Given the description of an element on the screen output the (x, y) to click on. 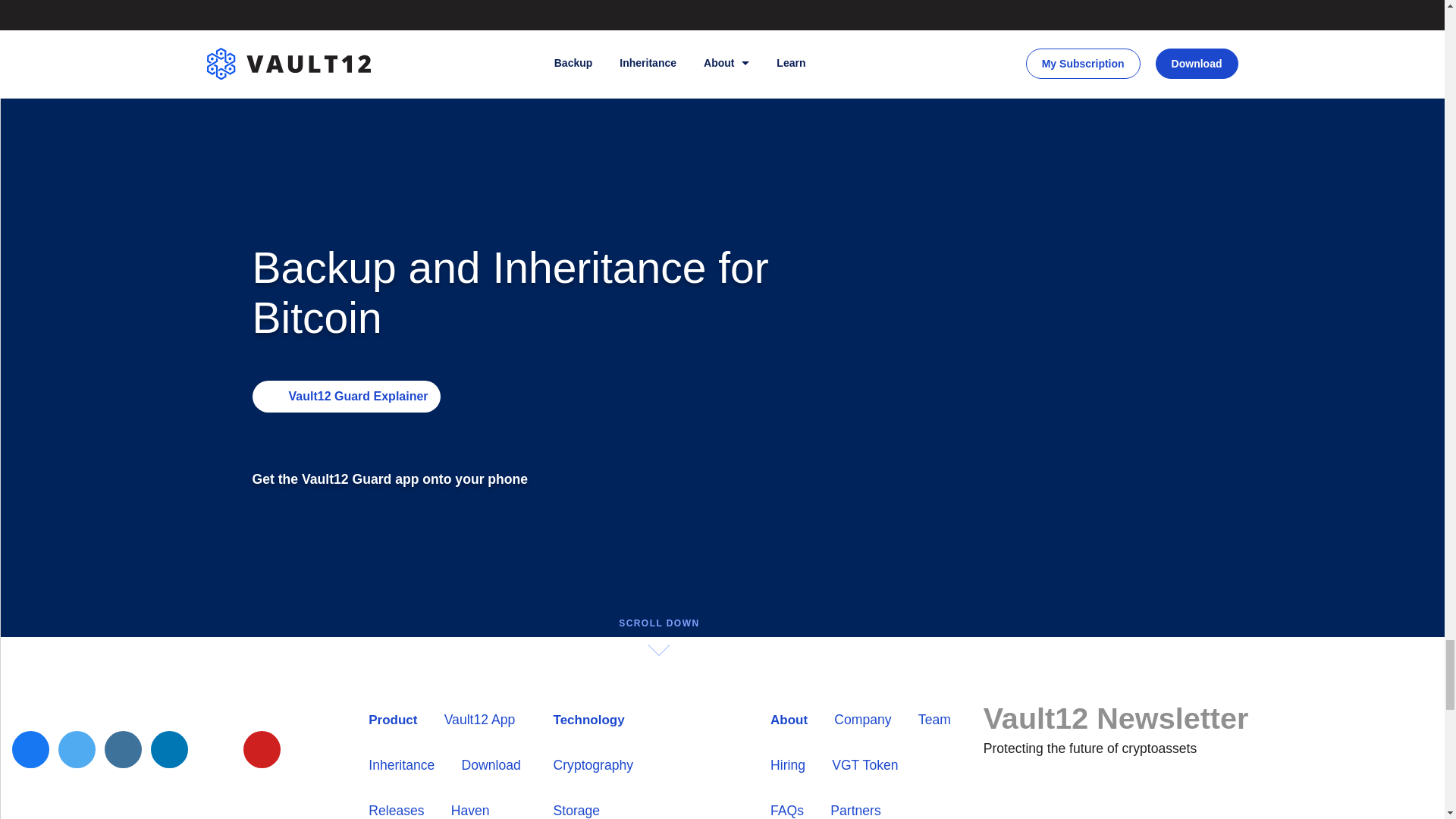
SCROLL DOWN (658, 636)
SCROLL DOWN (658, 623)
